Given the description of an element on the screen output the (x, y) to click on. 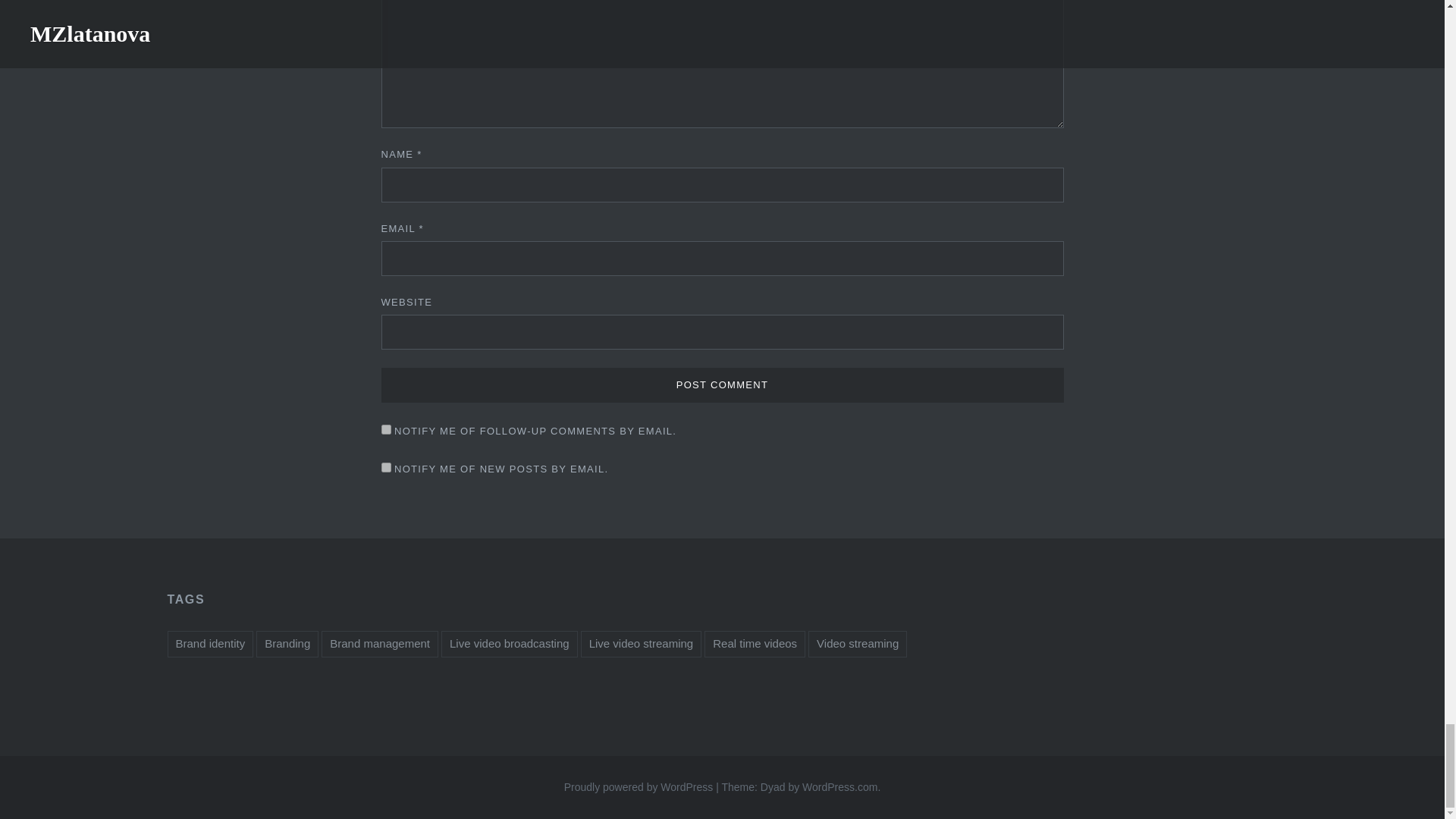
Post Comment (721, 384)
Live video broadcasting (509, 643)
Post Comment (721, 384)
Brand identity (210, 643)
Branding (287, 643)
subscribe (385, 429)
Brand management (379, 643)
Live video streaming (640, 643)
Real time videos (754, 643)
Video streaming (857, 643)
subscribe (385, 467)
